Given the description of an element on the screen output the (x, y) to click on. 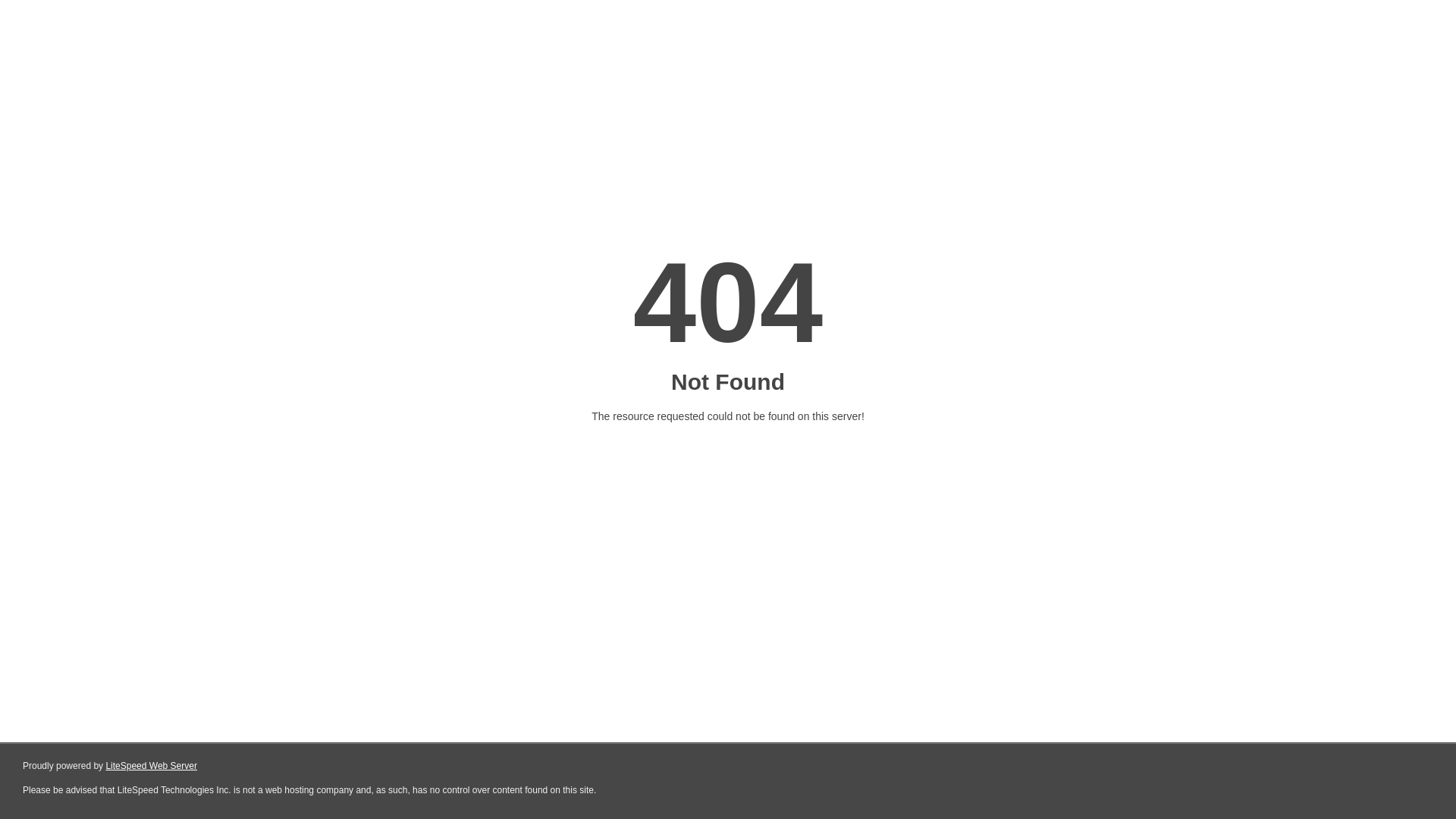
LiteSpeed Web Server Element type: text (151, 765)
